Given the description of an element on the screen output the (x, y) to click on. 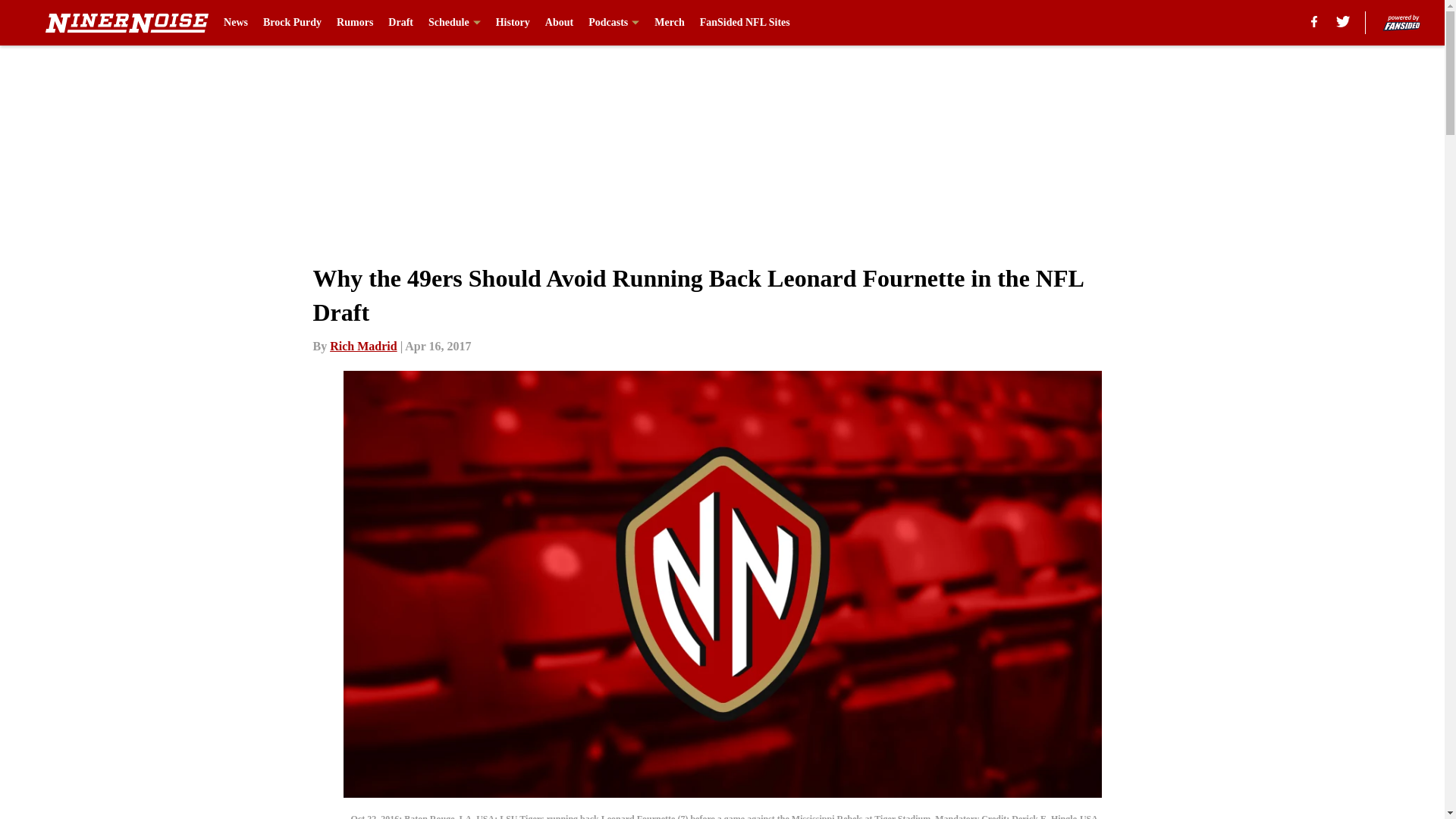
Brock Purdy (292, 22)
About (558, 22)
Rich Madrid (363, 345)
Rumors (354, 22)
FanSided NFL Sites (745, 22)
History (512, 22)
News (235, 22)
Merch (668, 22)
Draft (400, 22)
